Given the description of an element on the screen output the (x, y) to click on. 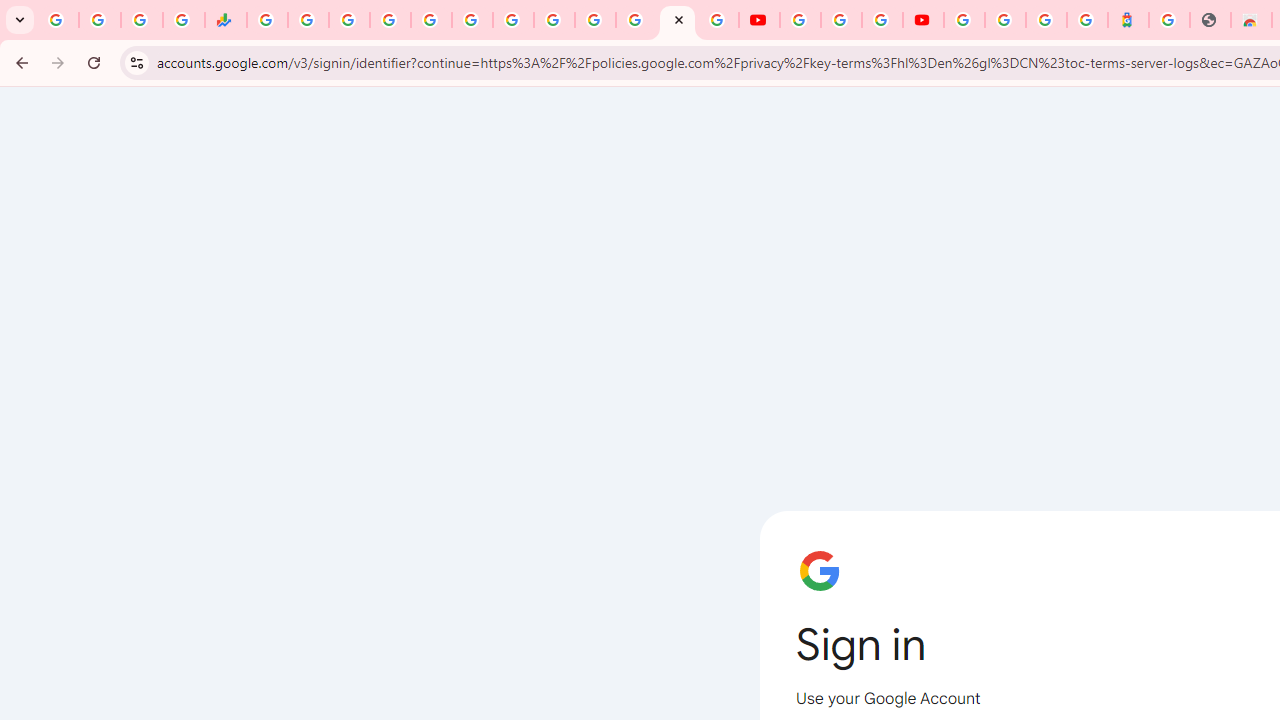
YouTube (758, 20)
Sign in - Google Accounts (594, 20)
